Given the description of an element on the screen output the (x, y) to click on. 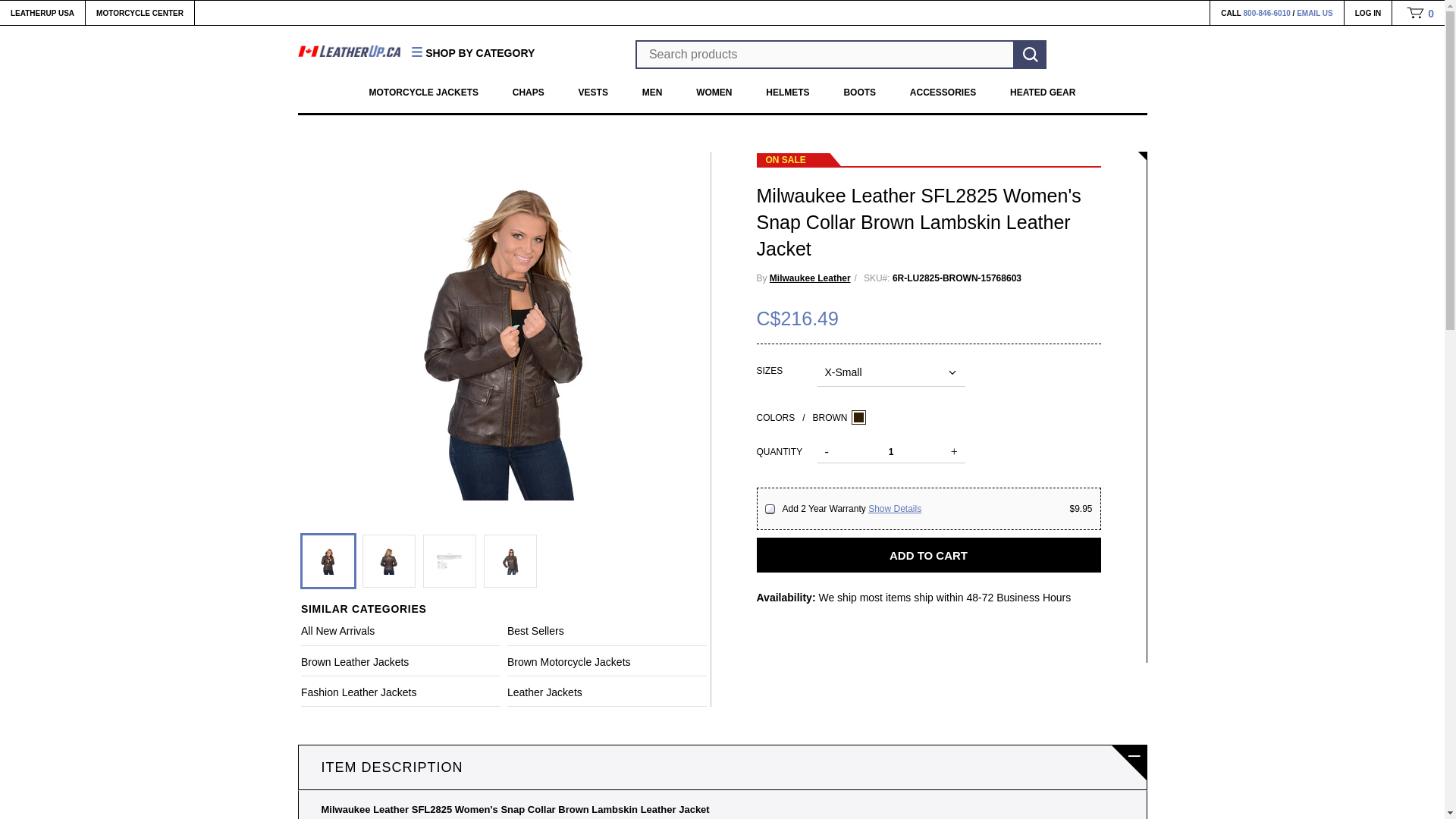
1 (890, 451)
800-846-6010 (1266, 13)
EMAIL US (1315, 13)
